Given the description of an element on the screen output the (x, y) to click on. 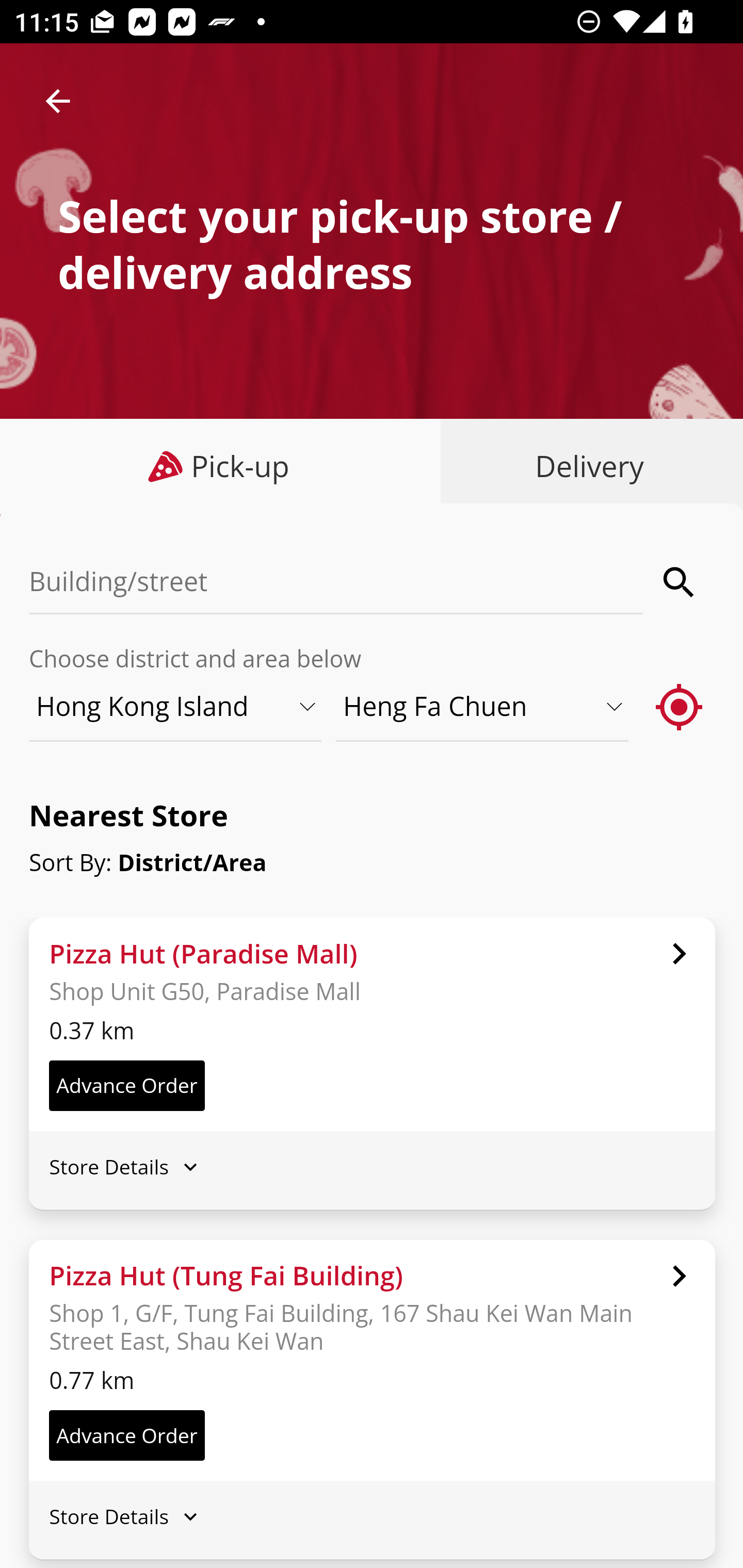
arrow_back (58, 100)
Pick-up (221, 466)
Delivery (585, 466)
search (679, 582)
gps_fixed (679, 706)
Hong Kong Island (175, 706)
Heng Fa Chuen (482, 706)
Store Details (371, 1167)
Store Details (371, 1516)
